Given the description of an element on the screen output the (x, y) to click on. 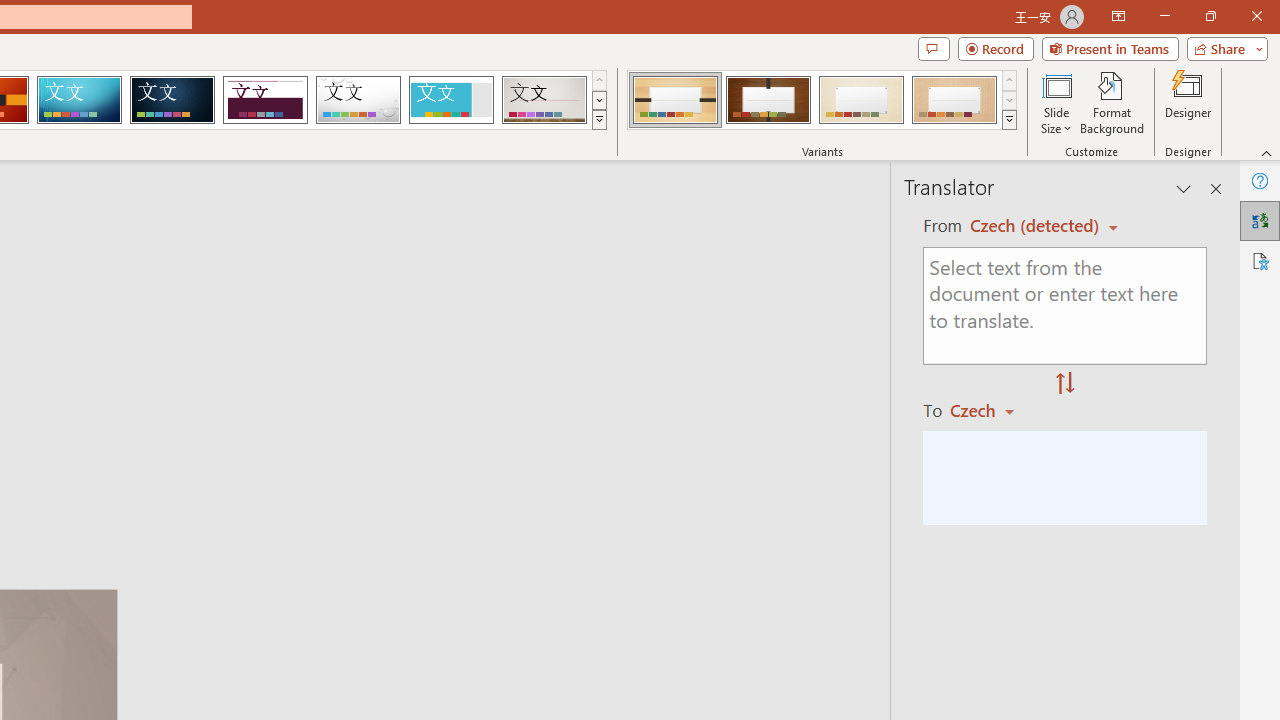
Organic Variant 4 (953, 100)
Frame (450, 100)
Organic Variant 3 (861, 100)
Droplet (358, 100)
Organic Variant 1 (674, 100)
